Given the description of an element on the screen output the (x, y) to click on. 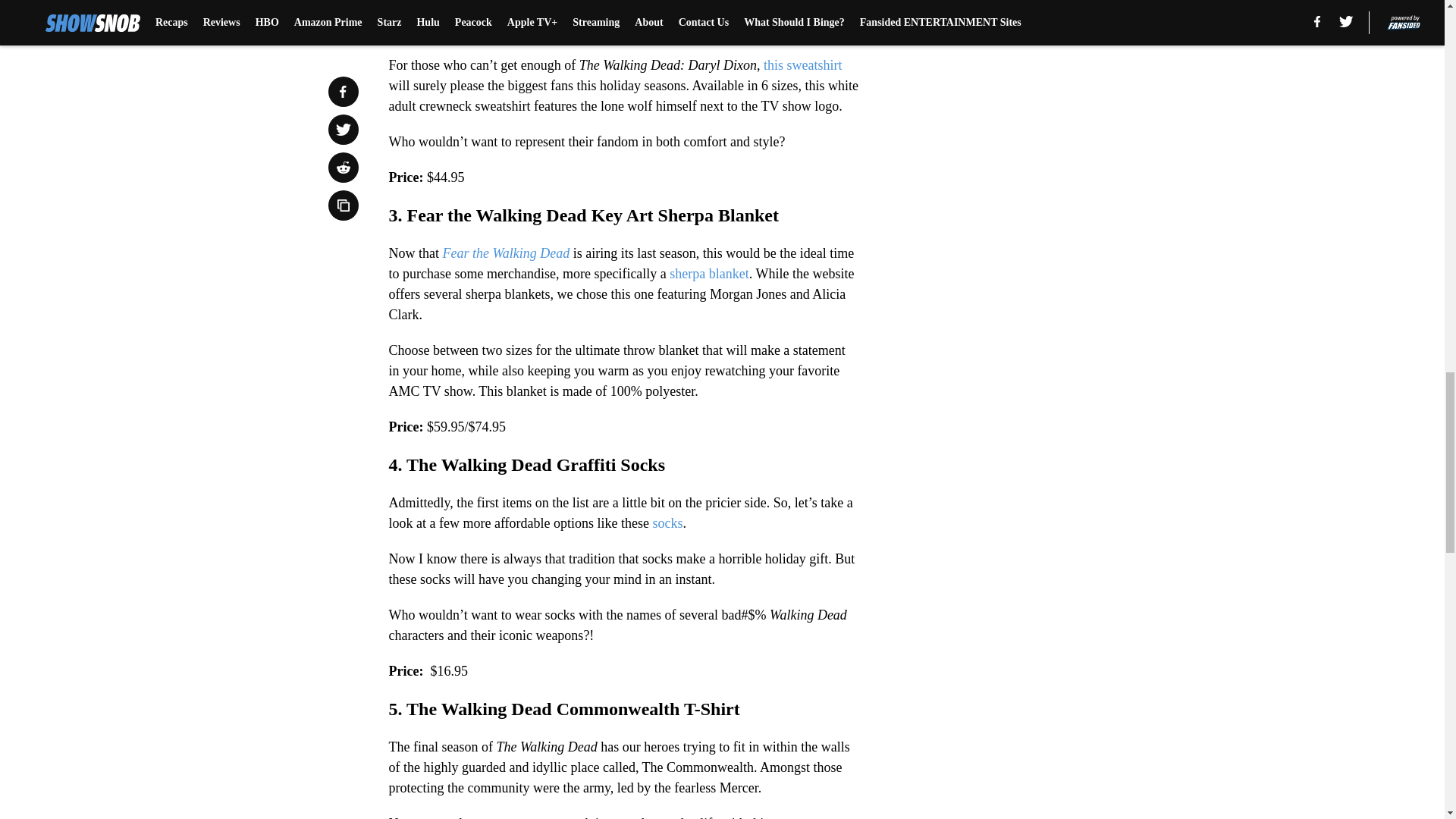
socks (665, 522)
sherpa blanket (708, 273)
Fear the Walking Dead (506, 253)
this sweatshirt (802, 64)
